Given the description of an element on the screen output the (x, y) to click on. 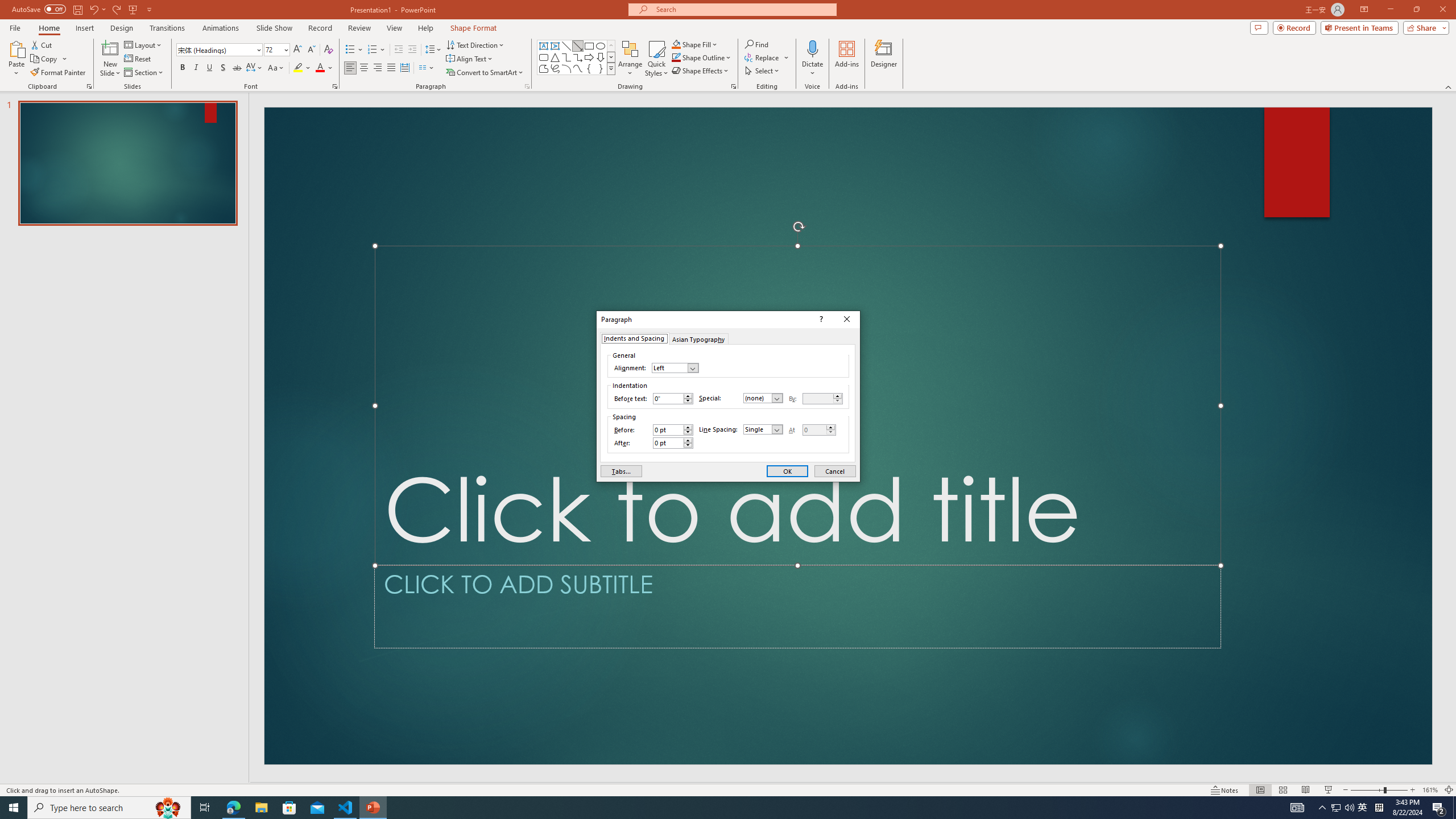
At (818, 429)
